Given the description of an element on the screen output the (x, y) to click on. 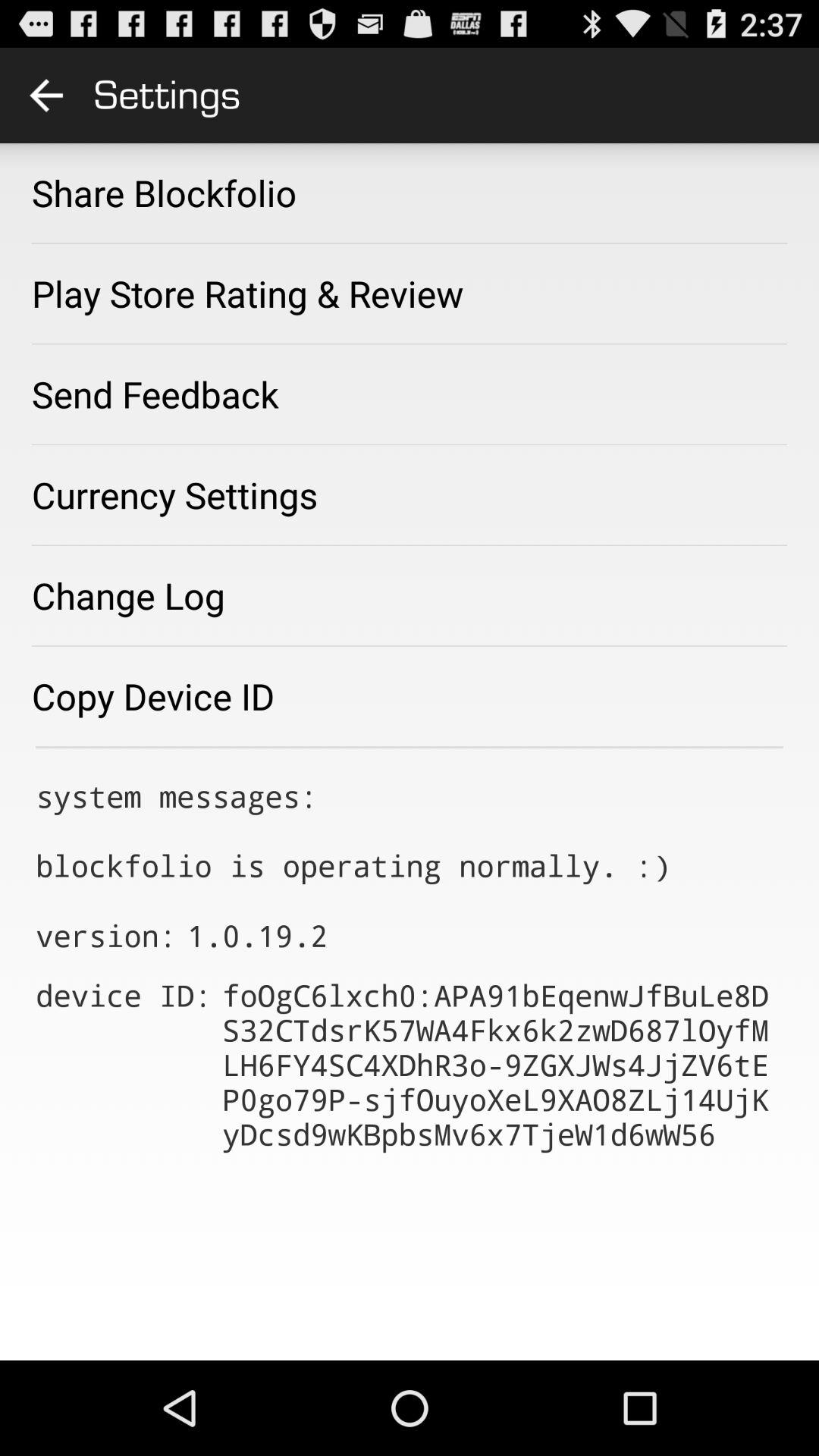
click the app above the currency settings (154, 393)
